Given the description of an element on the screen output the (x, y) to click on. 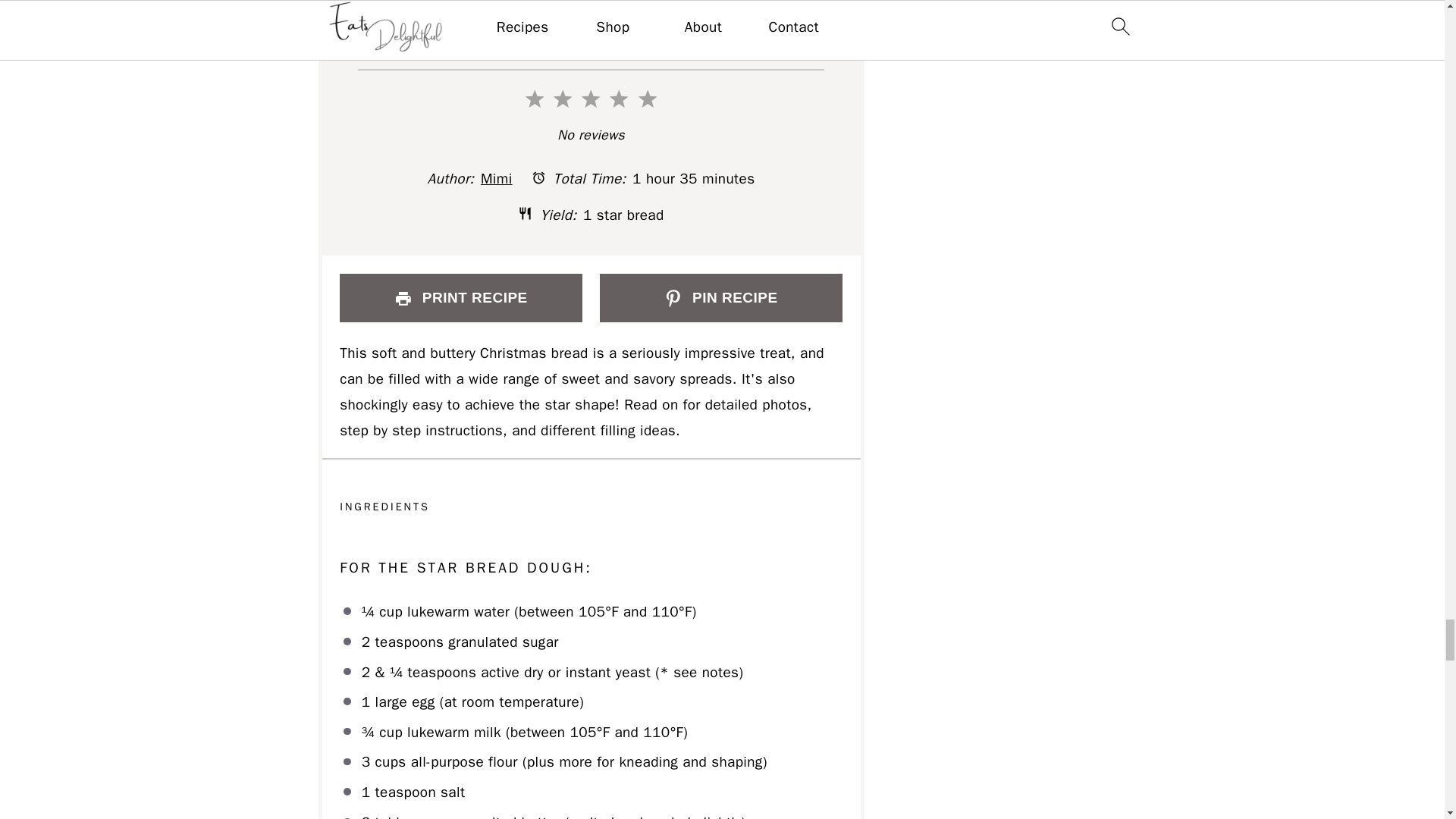
PRINT RECIPE (459, 297)
PIN RECIPE (720, 297)
Mimi (496, 178)
